Given the description of an element on the screen output the (x, y) to click on. 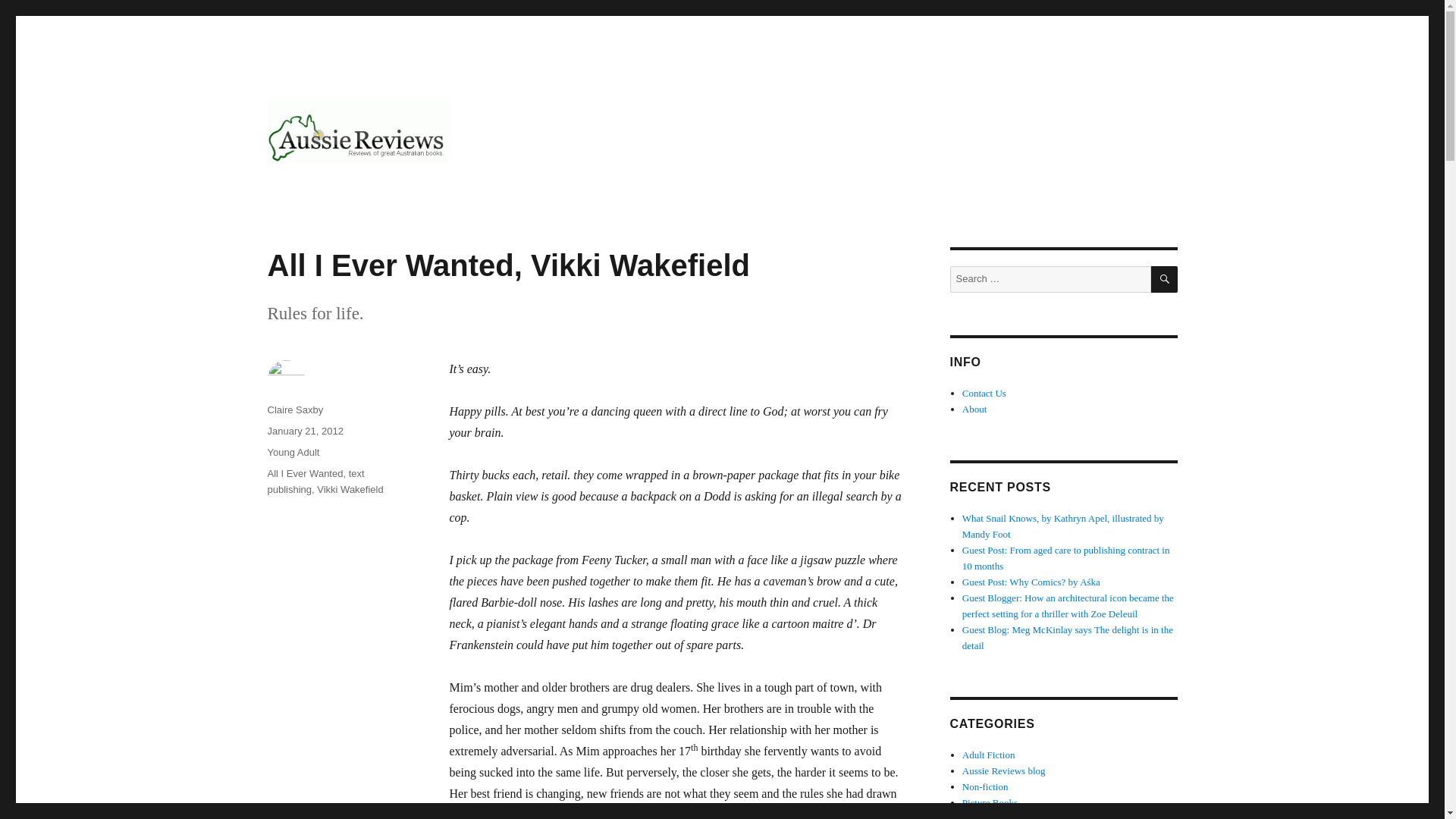
Young Adult (292, 451)
January 21, 2012 (304, 430)
text publishing (315, 481)
Guest Blog: Meg McKinlay says The delight is in the detail (1067, 637)
Uncategorised (990, 816)
SEARCH (1164, 279)
Claire Saxby (294, 409)
Adult Fiction (988, 754)
All I Ever Wanted (304, 473)
What Snail Knows, by Kathryn Apel, illustrated by Mandy Foot (1062, 525)
Non-fiction (985, 786)
Contact Us (984, 392)
Aussie Reviews blog (1003, 770)
